Given the description of an element on the screen output the (x, y) to click on. 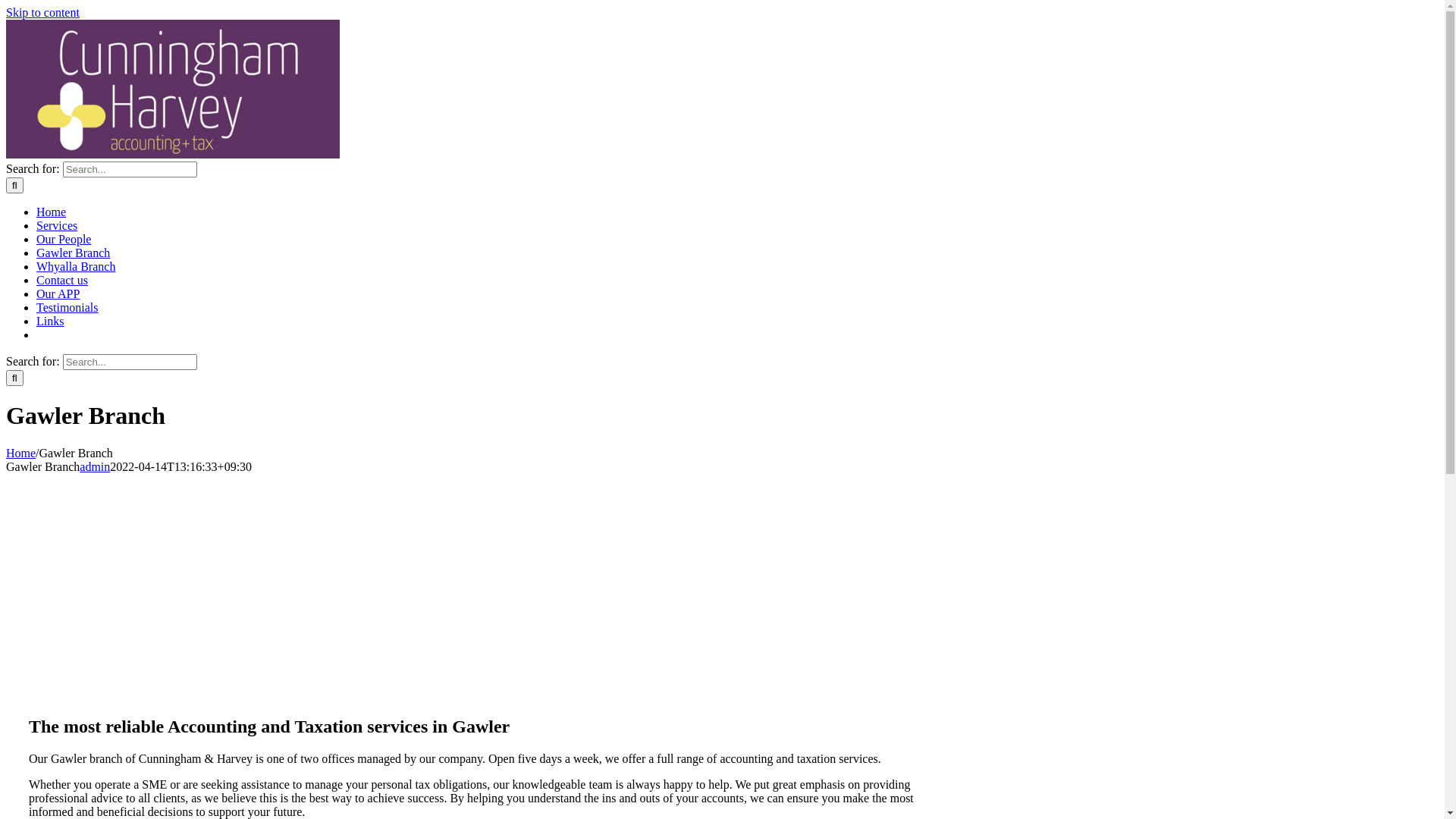
Our People Element type: text (63, 238)
Contact us Element type: text (61, 279)
Skip to content Element type: text (42, 12)
Home Element type: text (50, 211)
Whyalla Branch Element type: text (75, 266)
Links Element type: text (49, 320)
Testimonials Element type: text (67, 307)
Gawler Branch Element type: text (72, 252)
Home Element type: text (20, 452)
Services Element type: text (56, 225)
Our APP Element type: text (57, 293)
admin Element type: text (94, 466)
